Given the description of an element on the screen output the (x, y) to click on. 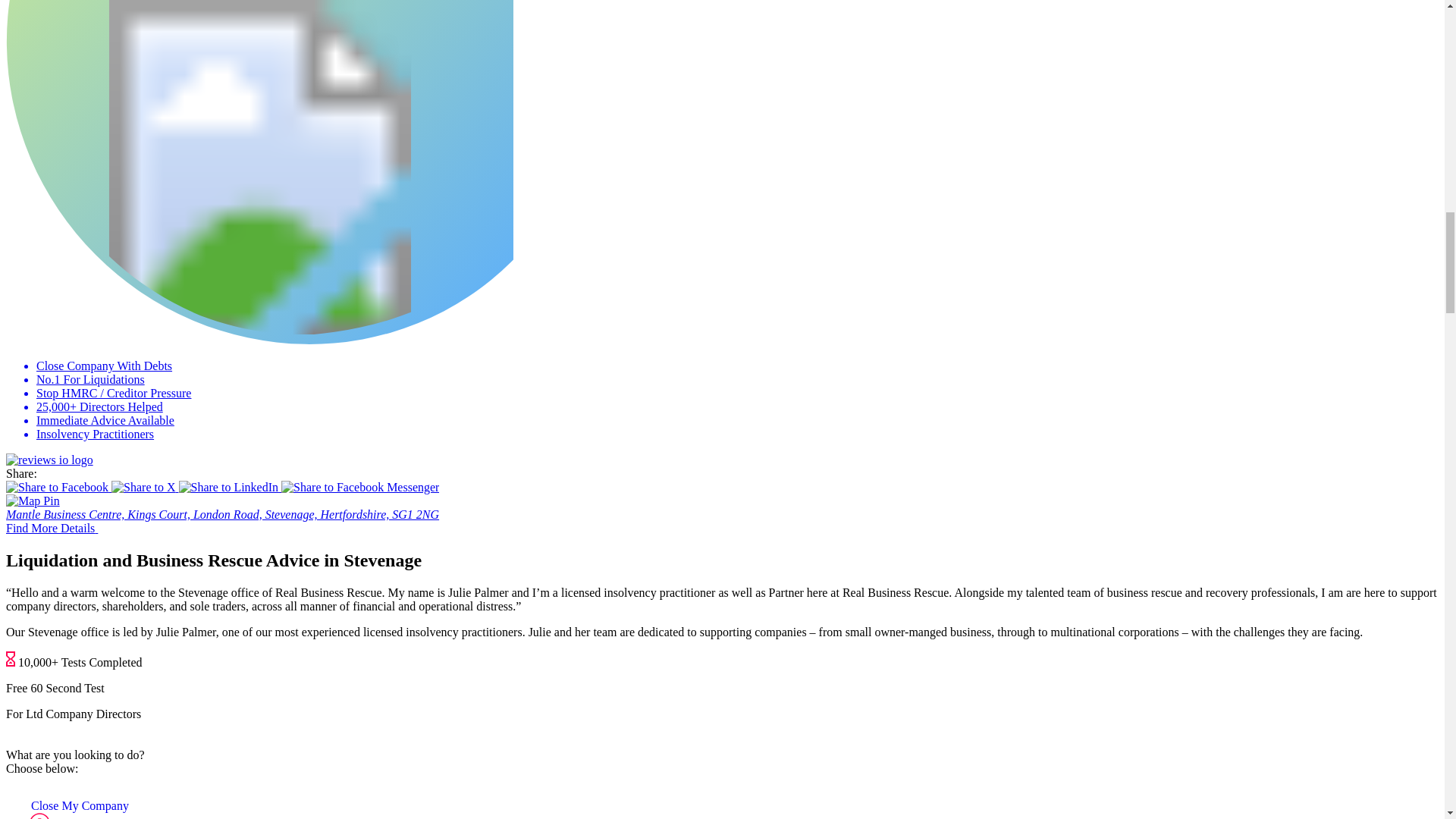
Share via X (144, 486)
Share via Facebook (58, 486)
Share via Facebook Messenger (360, 486)
Share via LinkedIn (230, 486)
